Given the description of an element on the screen output the (x, y) to click on. 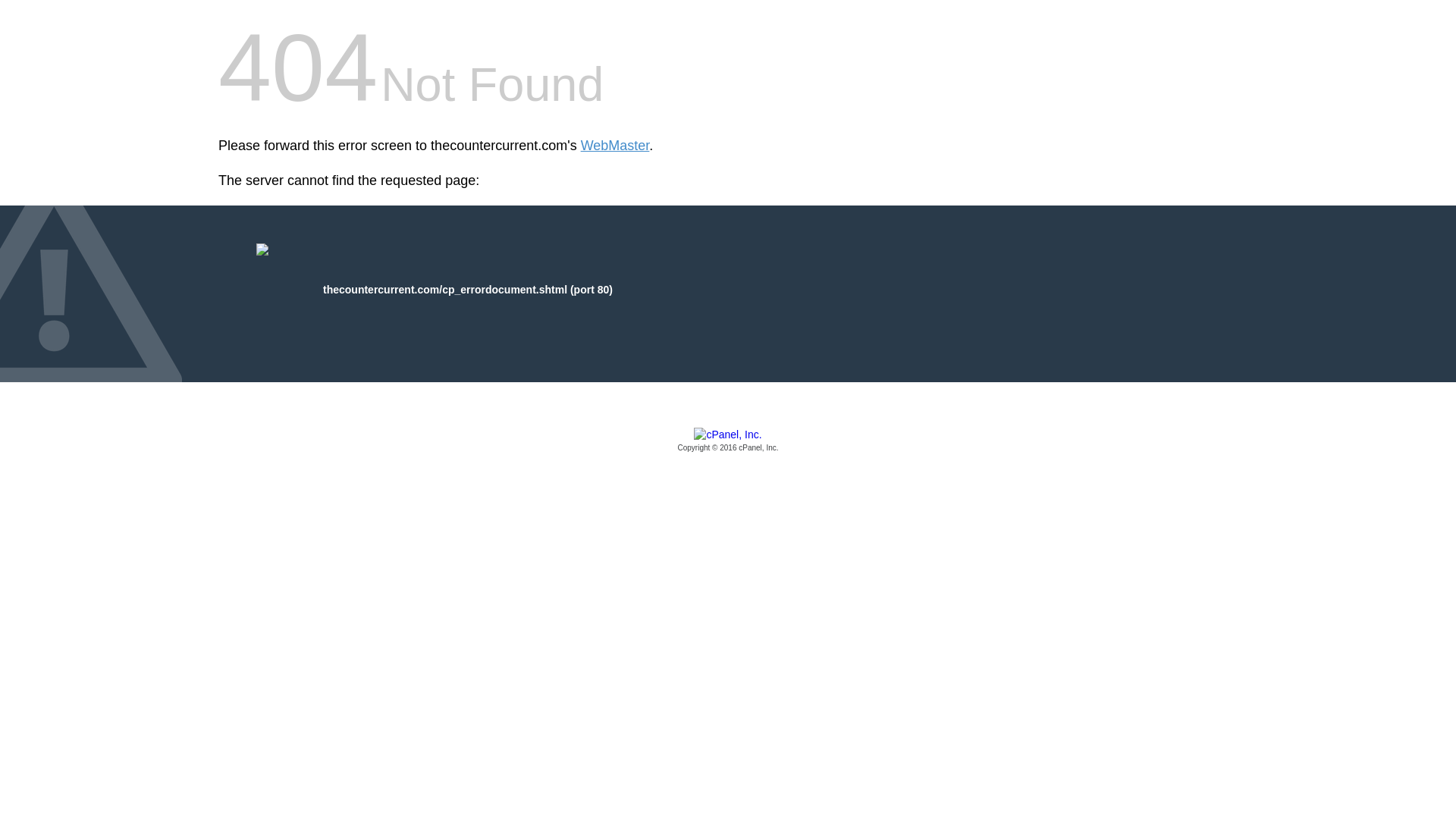
WebMaster (614, 145)
cPanel, Inc. (727, 440)
